Given the description of an element on the screen output the (x, y) to click on. 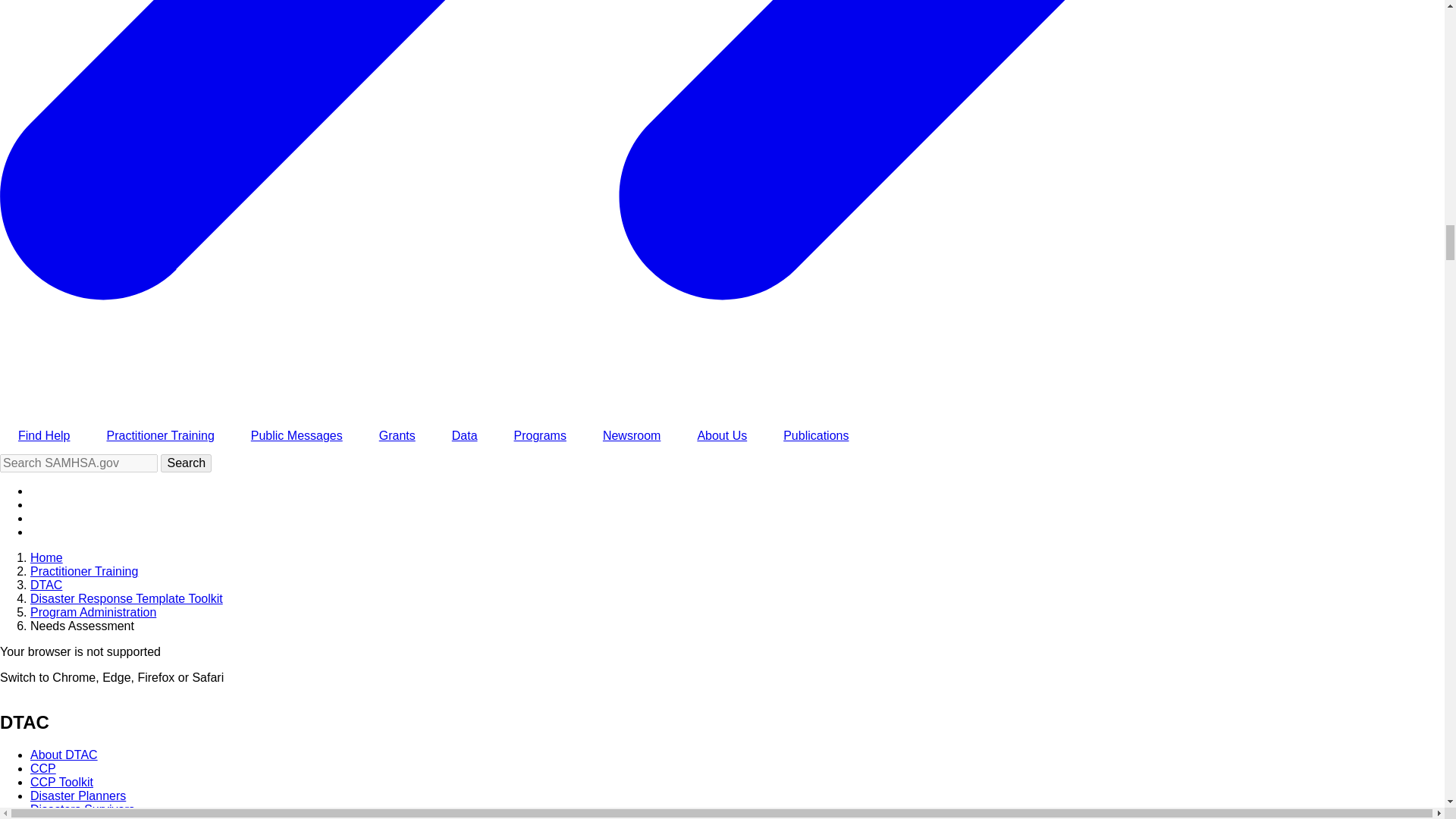
Search SAMHSA.gov (78, 463)
Search (185, 463)
Find Help (43, 435)
Search (185, 463)
